Given the description of an element on the screen output the (x, y) to click on. 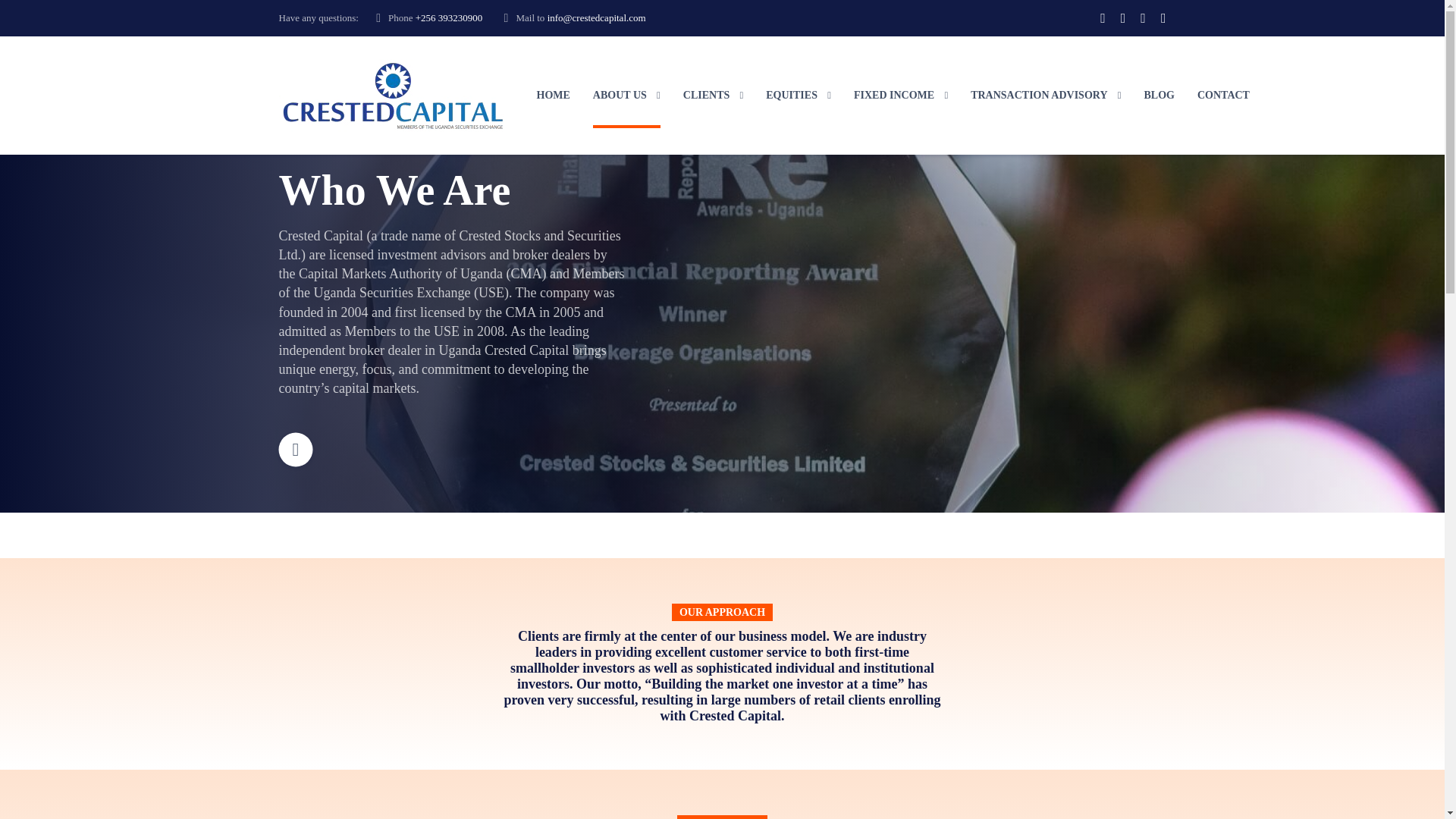
EQUITIES (798, 95)
ABOUT US (626, 95)
CLIENTS (712, 95)
FIXED INCOME (900, 95)
TRANSACTION ADVISORY (1046, 95)
